Given the description of an element on the screen output the (x, y) to click on. 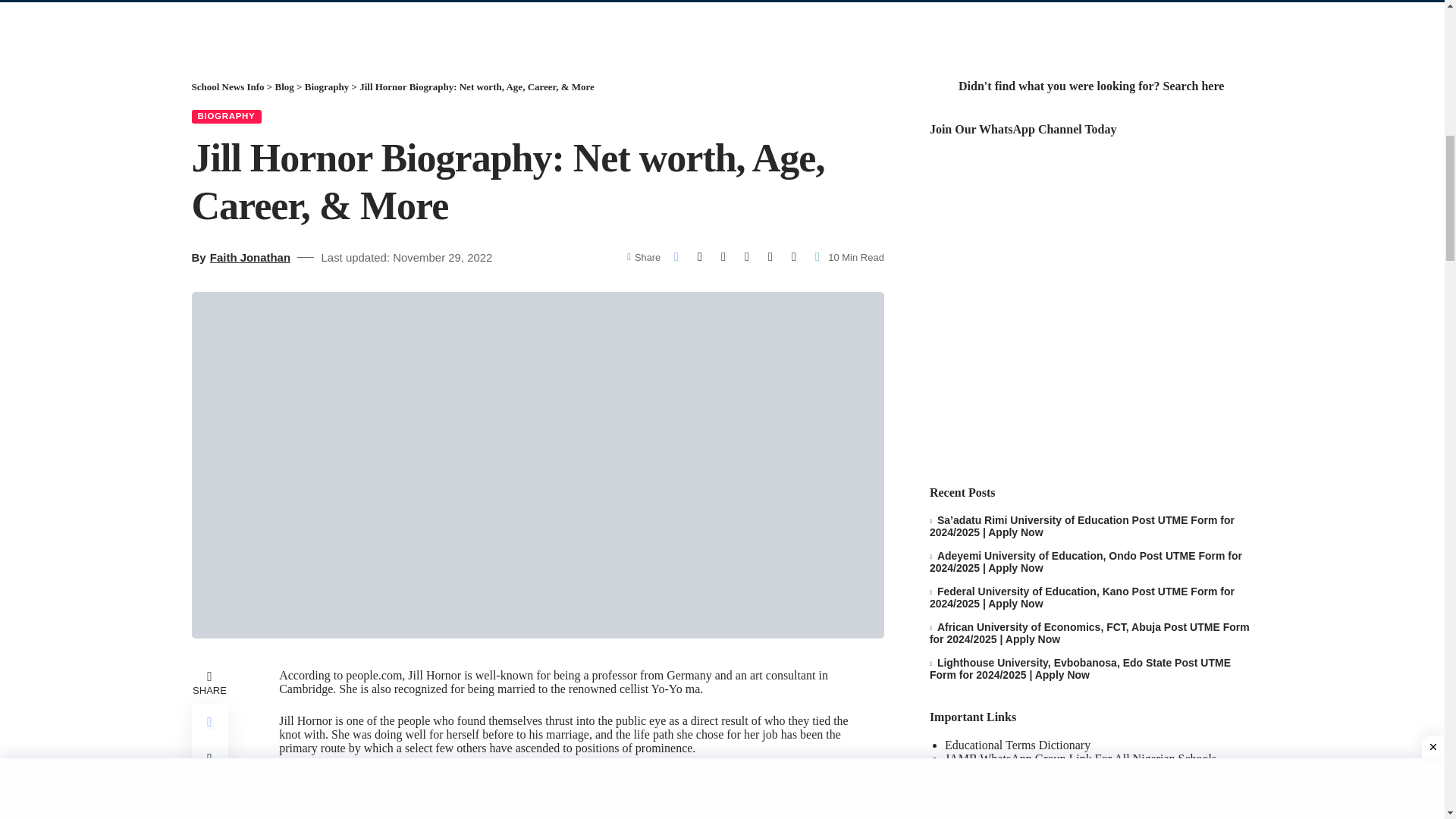
Go to the Biography Category archives. (326, 86)
Go to Blog. (284, 86)
Go to School News Info. (226, 86)
